Given the description of an element on the screen output the (x, y) to click on. 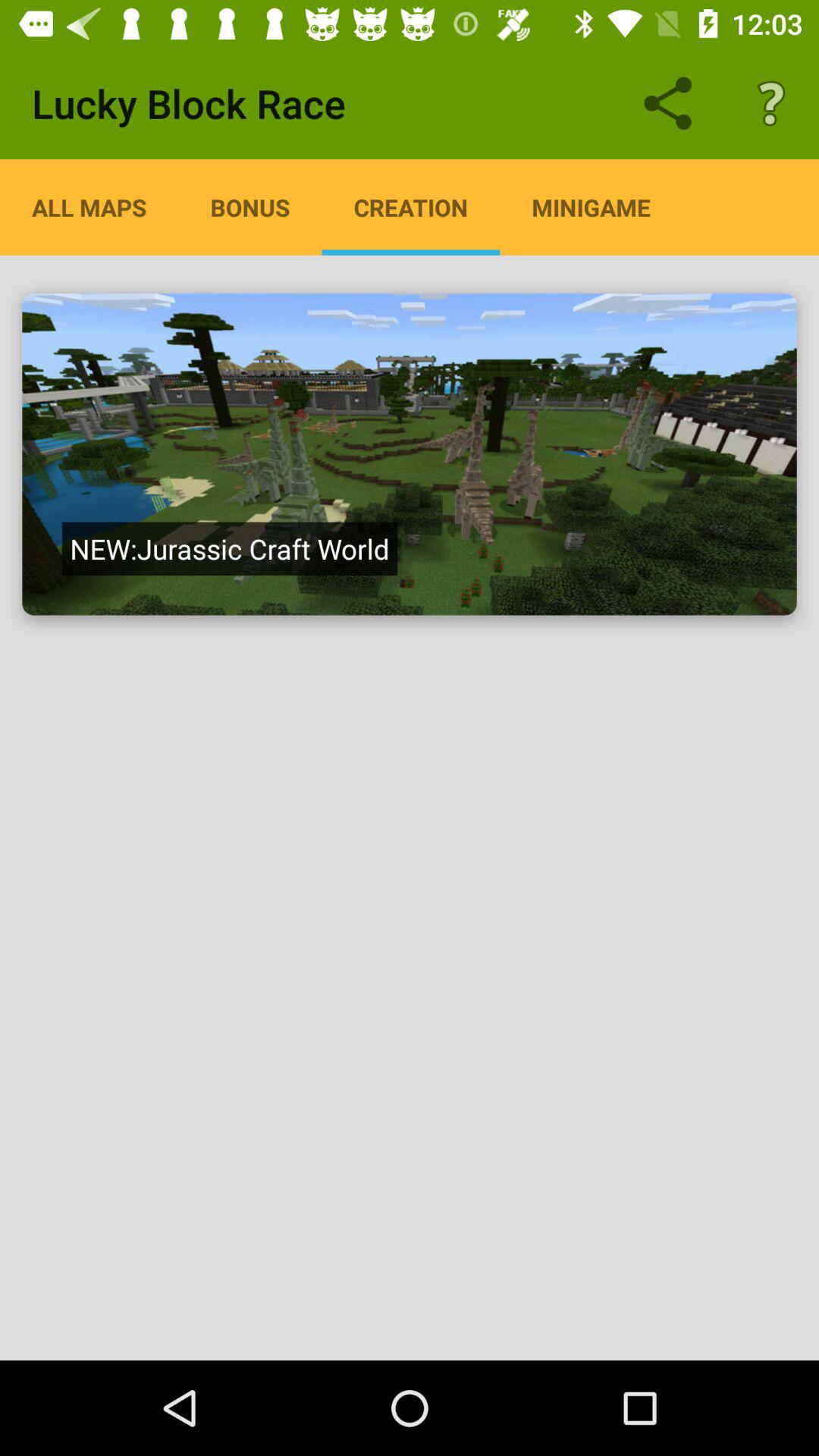
flip to the creation icon (410, 207)
